Given the description of an element on the screen output the (x, y) to click on. 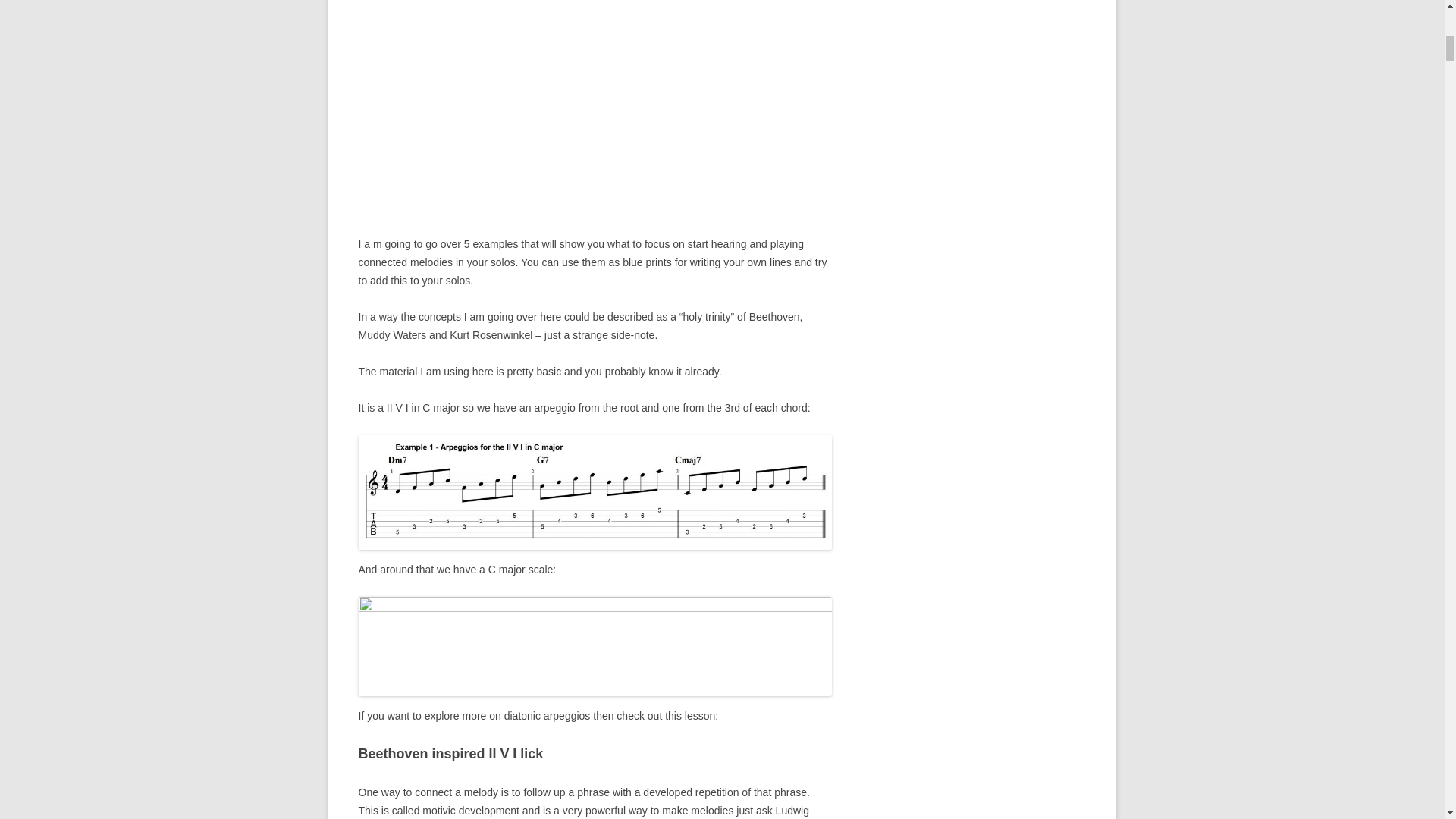
This Will Make Your Jazz Licks 10x Better (594, 112)
